Given the description of an element on the screen output the (x, y) to click on. 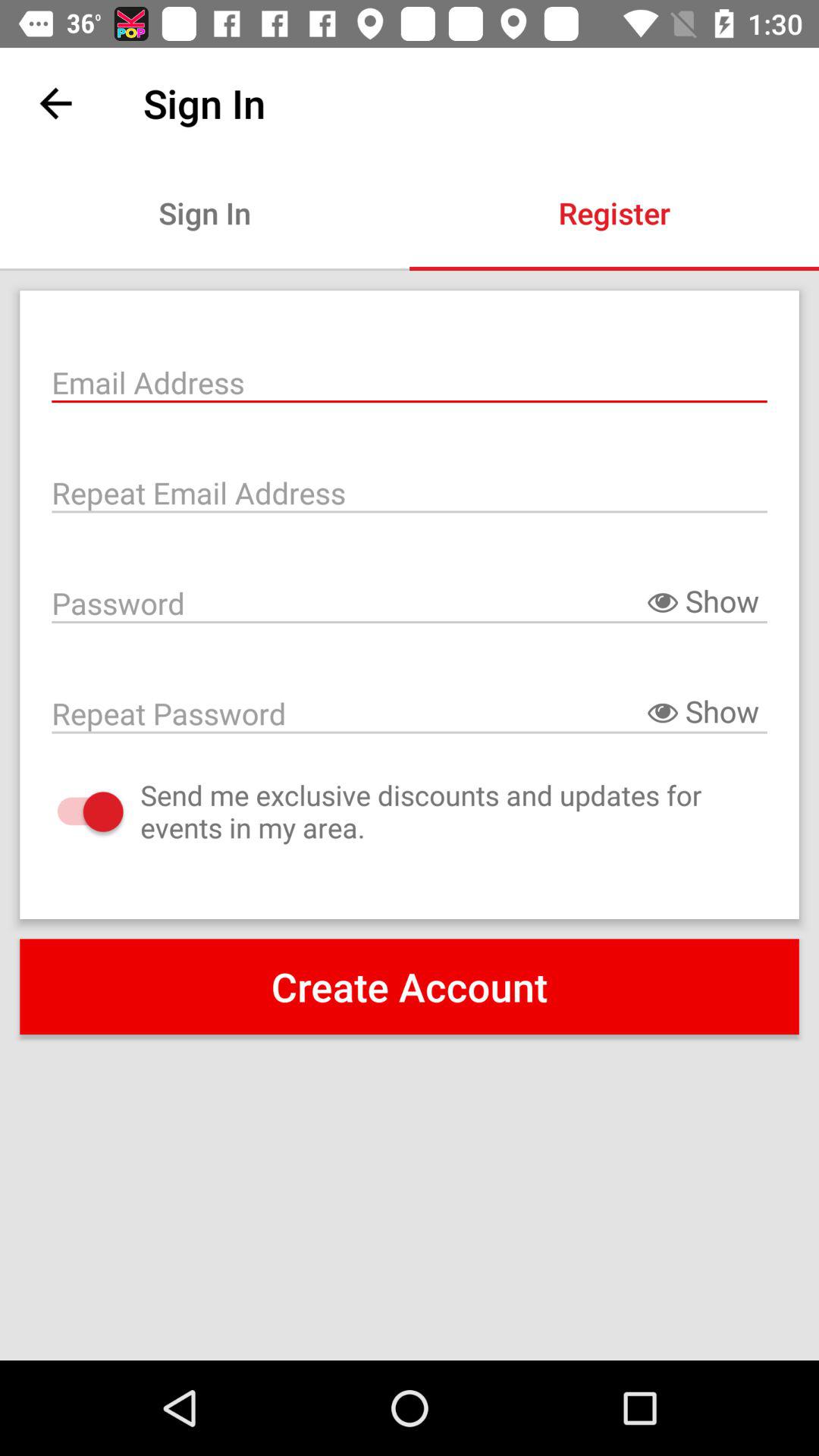
registration field (409, 381)
